Given the description of an element on the screen output the (x, y) to click on. 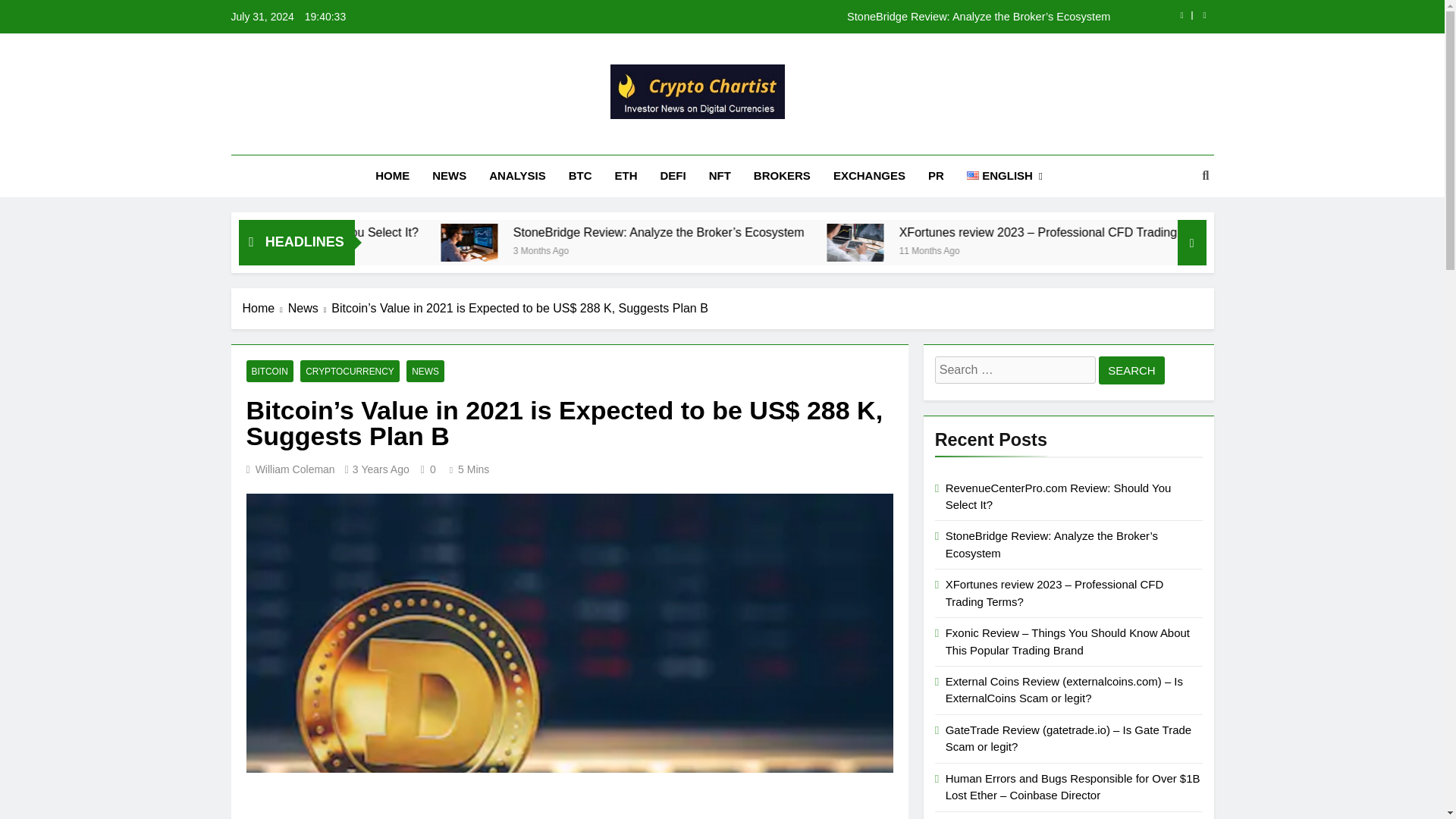
3 Months Ago (756, 249)
DEFI (673, 175)
Search (1131, 370)
NFT (719, 175)
NEWS (448, 175)
RevenueCenterPro.com Review: Should You Select It? (497, 232)
Search (1131, 370)
2 Months Ago (375, 249)
HOME (392, 175)
ANALYSIS (516, 175)
PR (936, 175)
ETH (626, 175)
Crypto Trading Guide (594, 140)
ENGLISH (1004, 176)
BROKERS (782, 175)
